Given the description of an element on the screen output the (x, y) to click on. 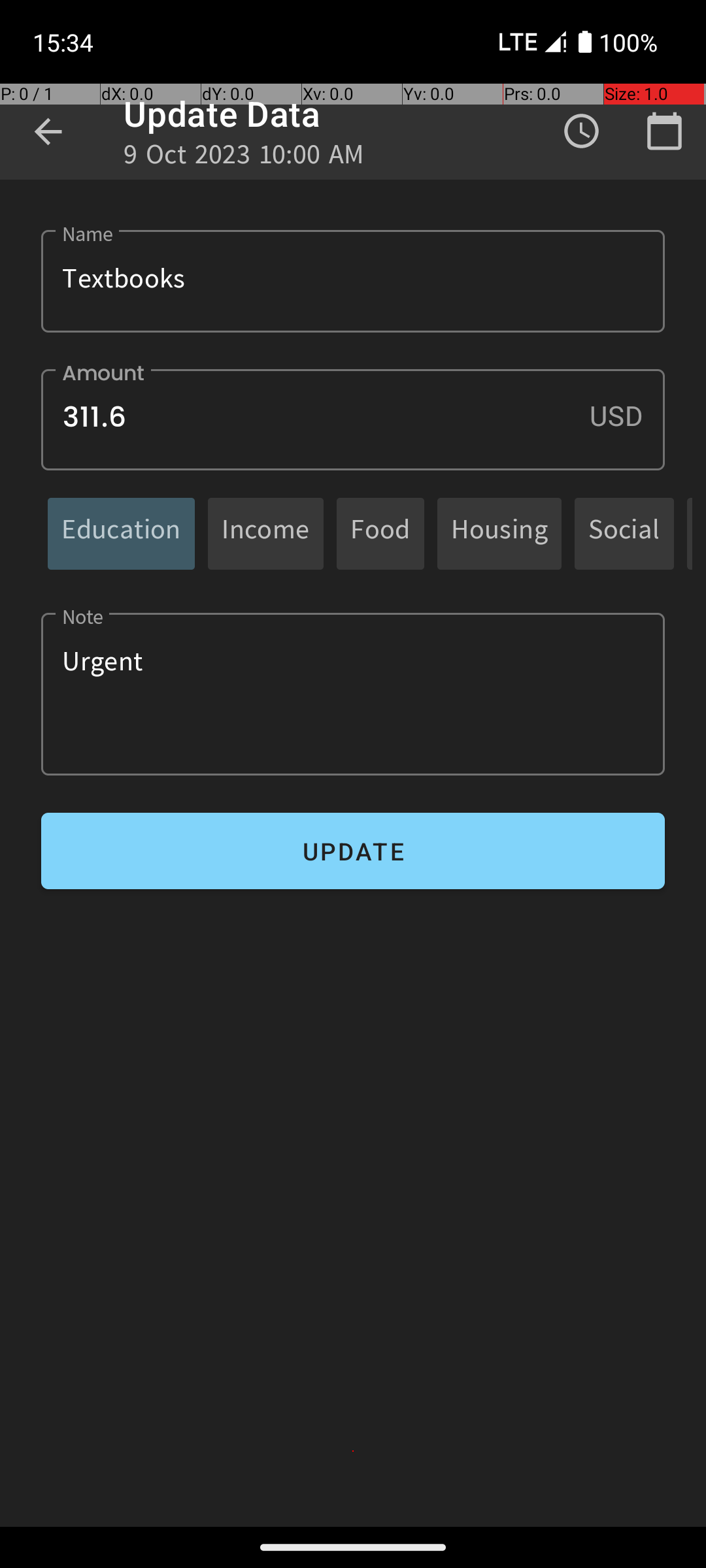
9 Oct 2023 10:00 AM Element type: android.widget.TextView (243, 157)
Textbooks Element type: android.widget.EditText (352, 280)
311.6 Element type: android.widget.EditText (352, 419)
Education Element type: android.widget.TextView (121, 533)
